Given the description of an element on the screen output the (x, y) to click on. 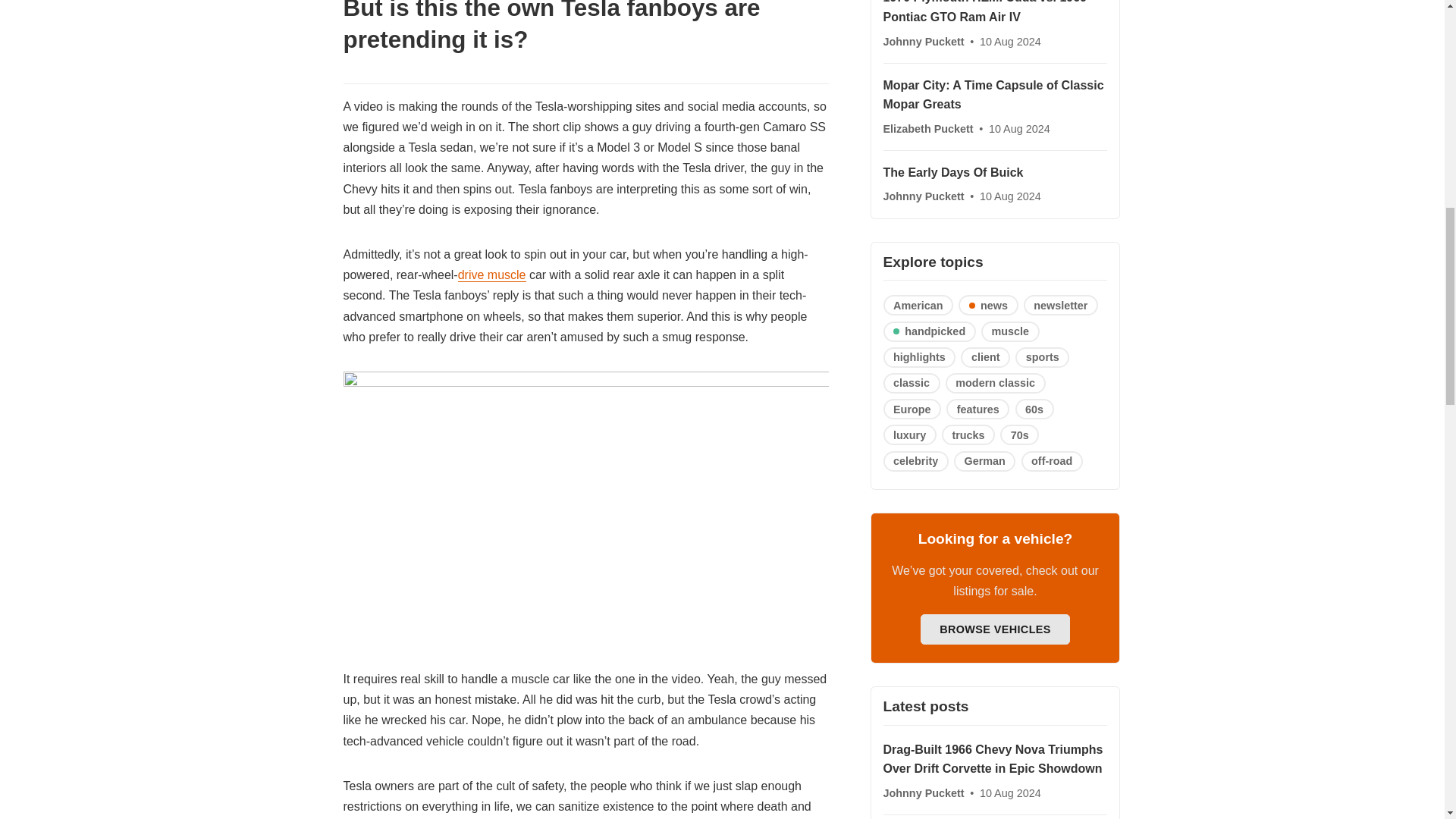
drive muscle (491, 274)
American (917, 304)
Johnny Puckett (924, 196)
news (987, 304)
Johnny Puckett (924, 41)
Elizabeth Puckett (928, 128)
